Given the description of an element on the screen output the (x, y) to click on. 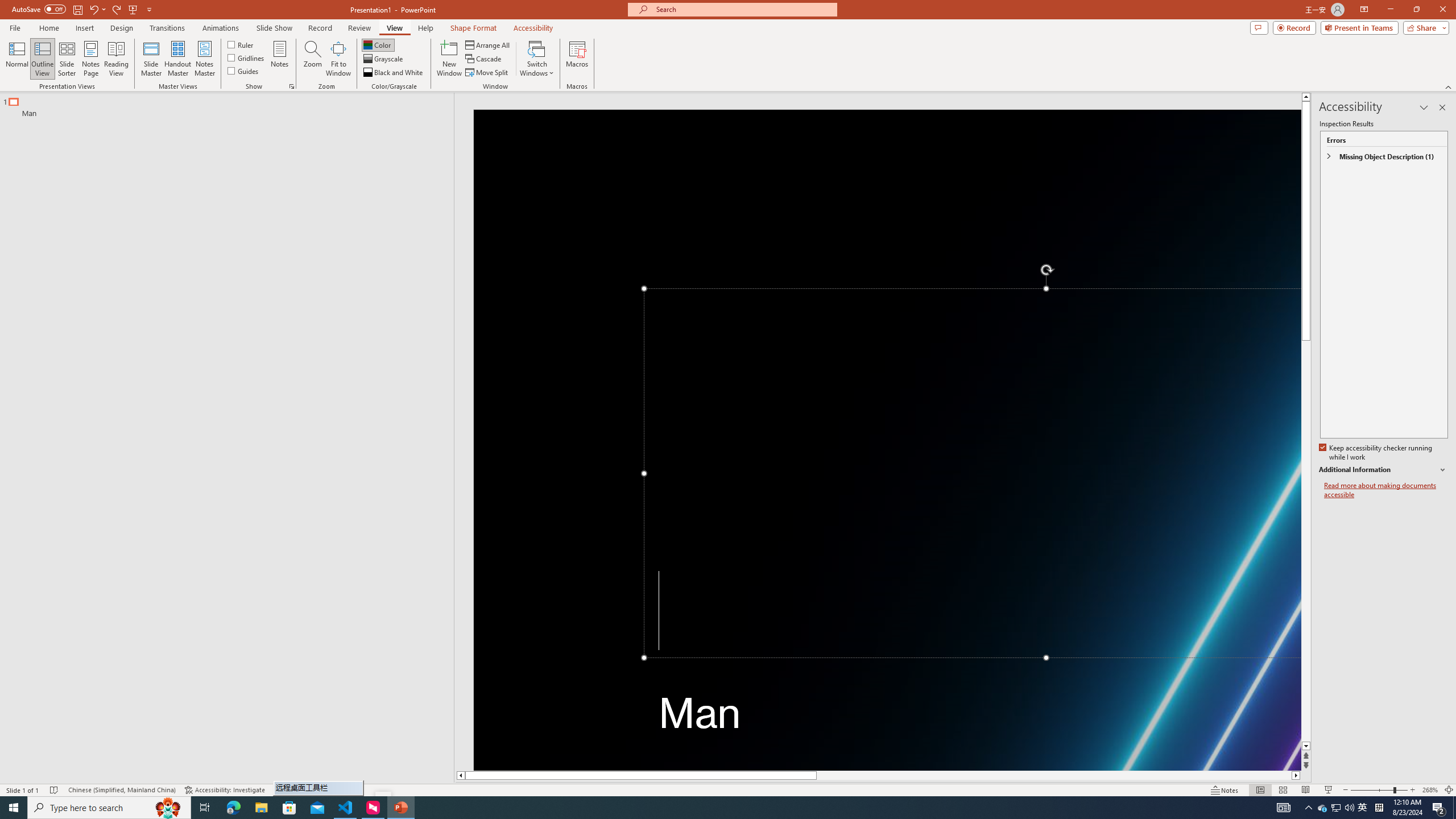
Fit to Window (338, 58)
Outline (231, 104)
Zoom 268% (1430, 790)
Grayscale (383, 58)
Notes Master (204, 58)
Guides (243, 69)
